Given the description of an element on the screen output the (x, y) to click on. 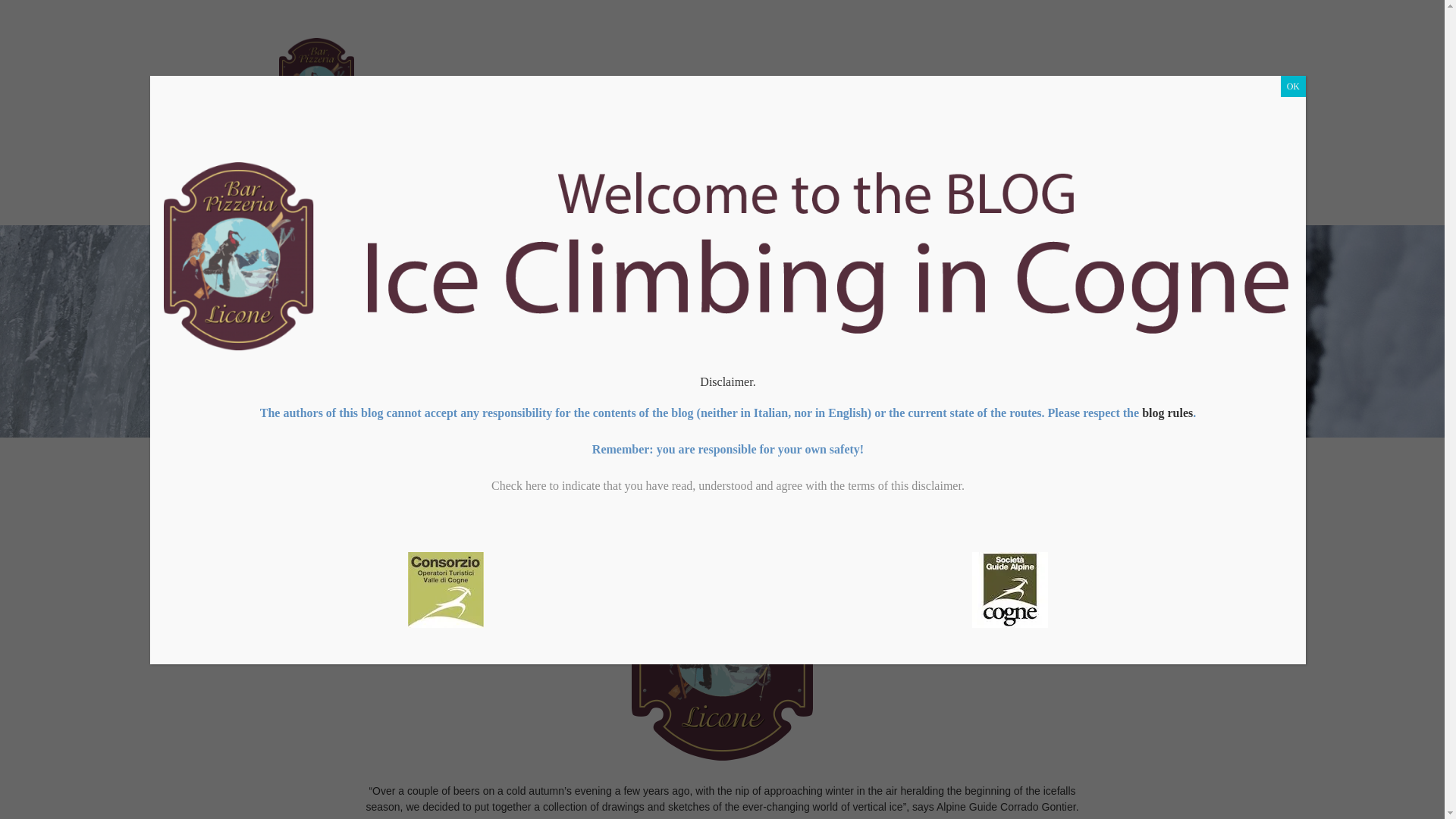
EN:  (1095, 177)
ICEFALL (673, 177)
BLOG (590, 177)
COMMENTS (773, 177)
WEATHER (1013, 177)
ICE CLIMBING IN COGNE (359, 177)
English (1095, 177)
MOUNTAIN GUIDE (898, 177)
ABOUT US (503, 177)
